Given the description of an element on the screen output the (x, y) to click on. 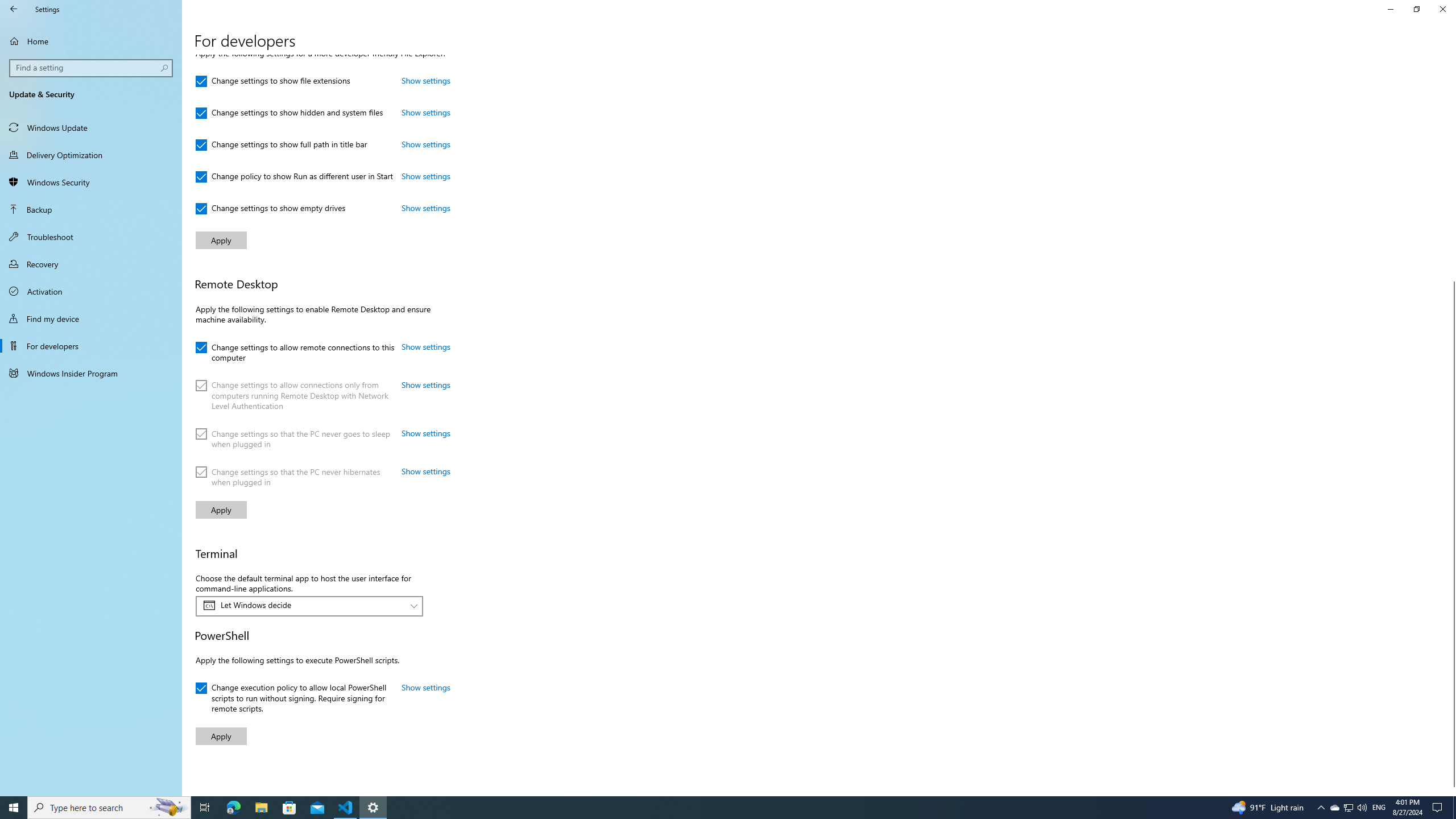
Show settings: Change settings to show file extensions (425, 80)
Settings - 1 running window (373, 807)
Backup (91, 208)
Change settings to show file extensions (272, 81)
Home (91, 40)
Vertical Small Decrease (1451, 58)
Back (13, 9)
